Given the description of an element on the screen output the (x, y) to click on. 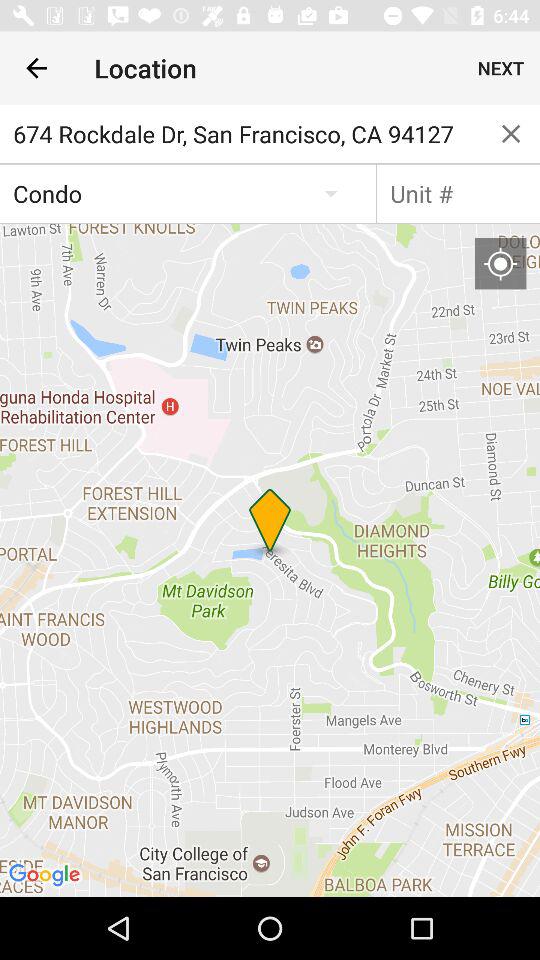
scroll until 674 rockdale dr icon (241, 134)
